Given the description of an element on the screen output the (x, y) to click on. 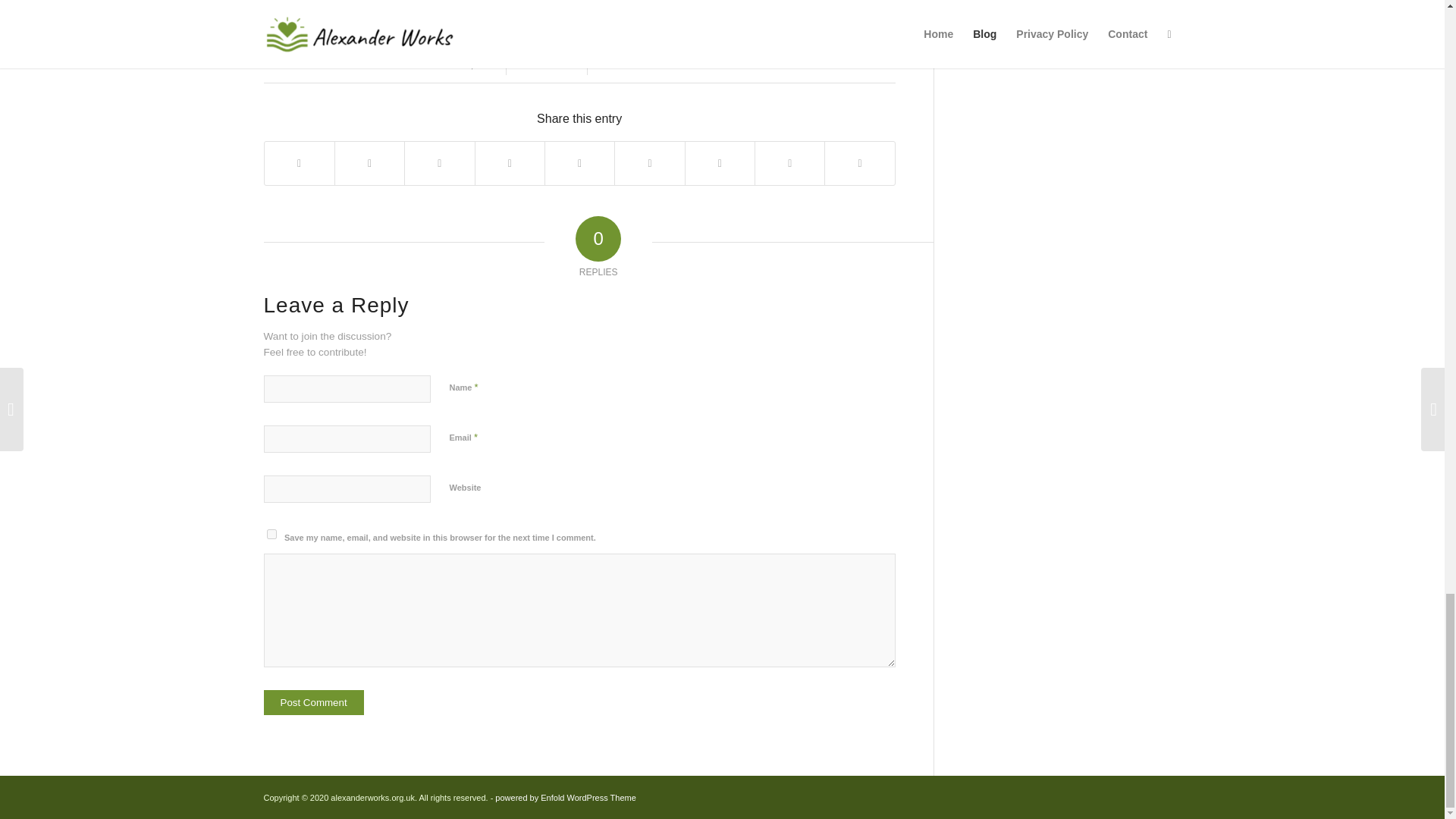
0 COMMENTS (546, 64)
MAUREEN C. INFANTE (664, 64)
yes (271, 533)
Post Comment (313, 702)
Posts by Maureen C. Infante (664, 64)
Post Comment (313, 702)
